Given the description of an element on the screen output the (x, y) to click on. 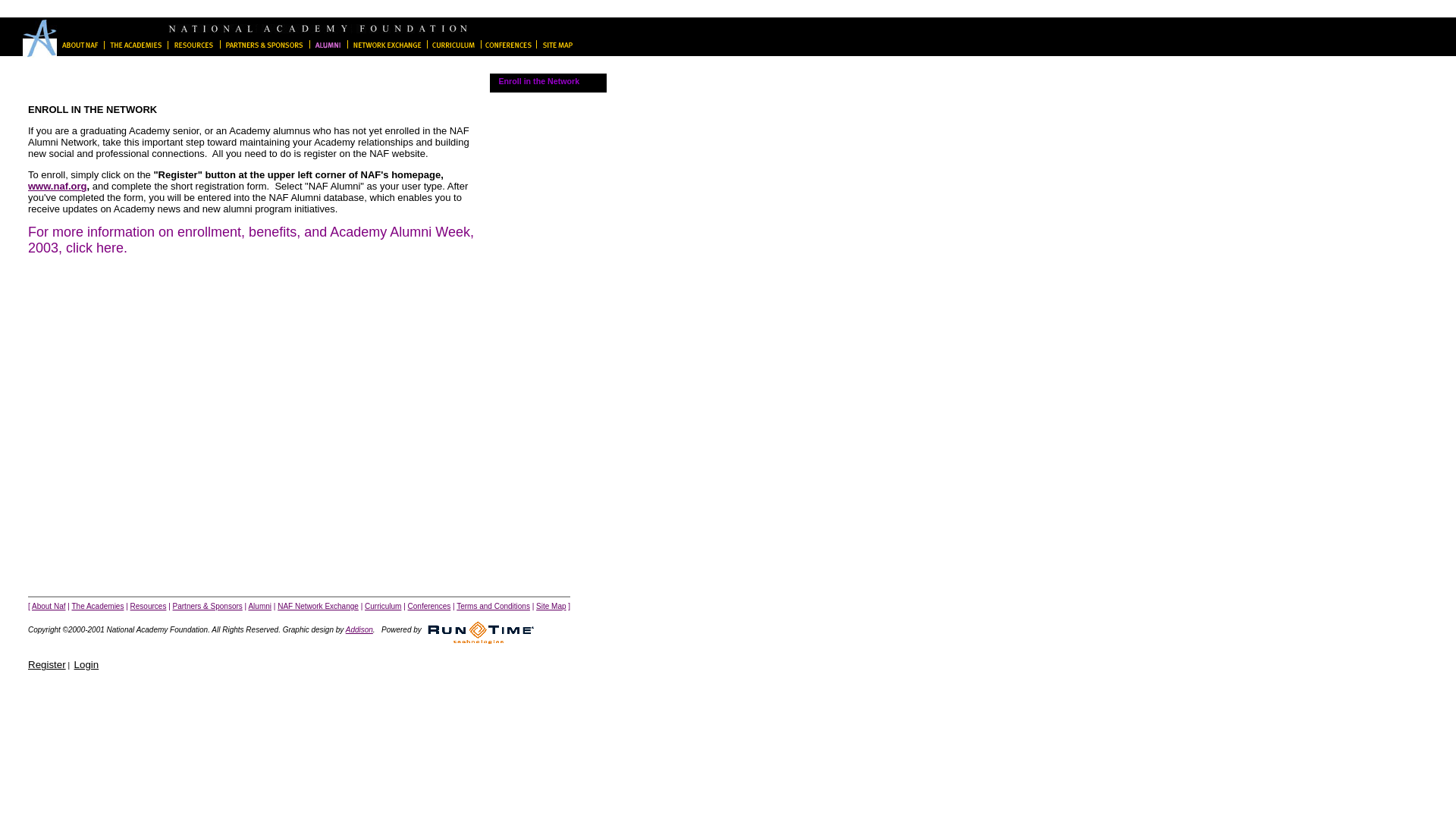
About Naf (48, 605)
Curriculum (453, 44)
Register (46, 664)
Site Map (554, 48)
NAF Network Exchange (386, 48)
Curriculum (383, 605)
NAF Network Exchange (318, 605)
The Academies (135, 44)
Conferences (507, 44)
NAF Network Exchange (386, 44)
